Given the description of an element on the screen output the (x, y) to click on. 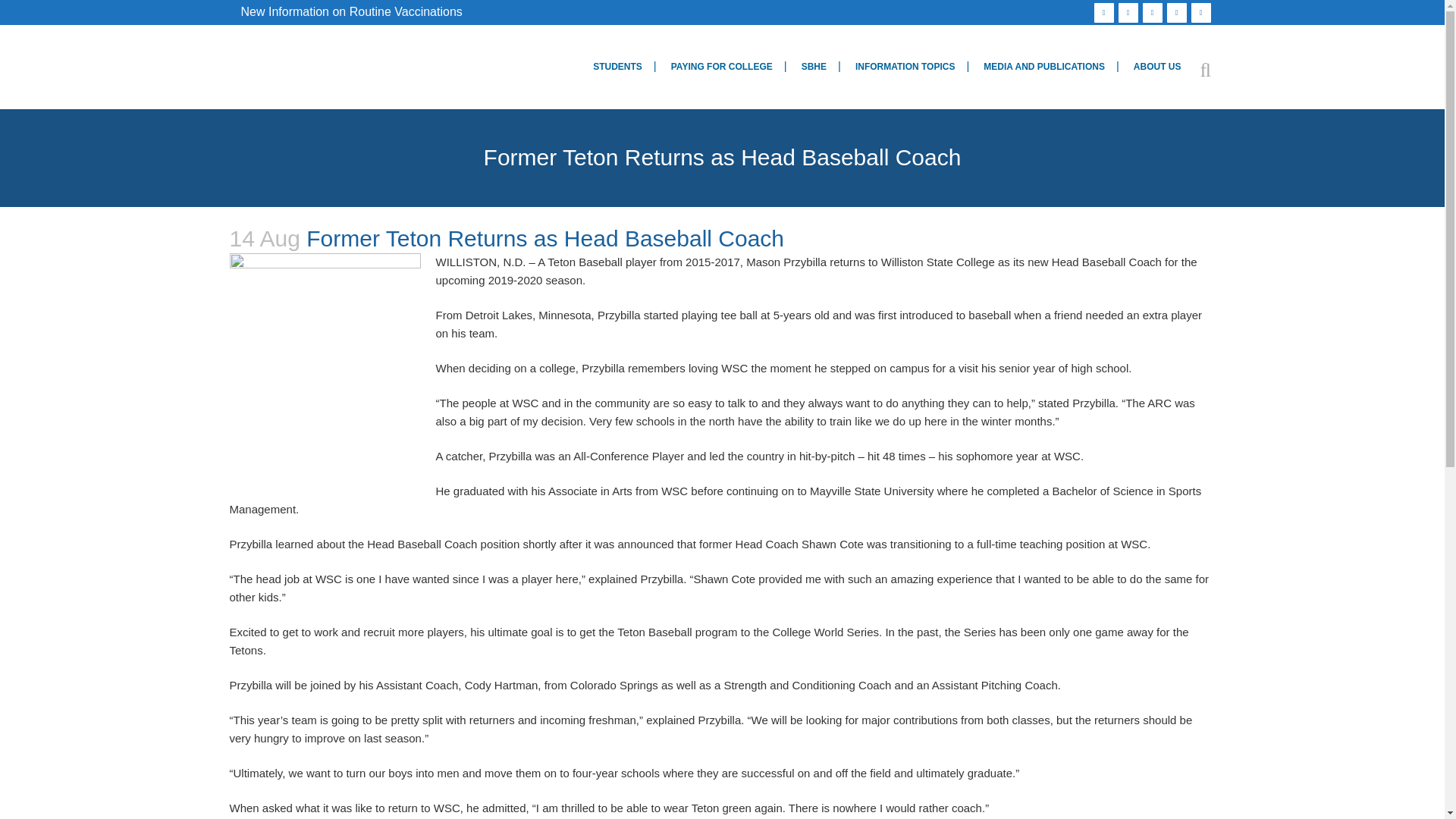
PAYING FOR COLLEGE (722, 66)
New Information on Routine Vaccinations (352, 11)
STUDENTS (617, 66)
